Given the description of an element on the screen output the (x, y) to click on. 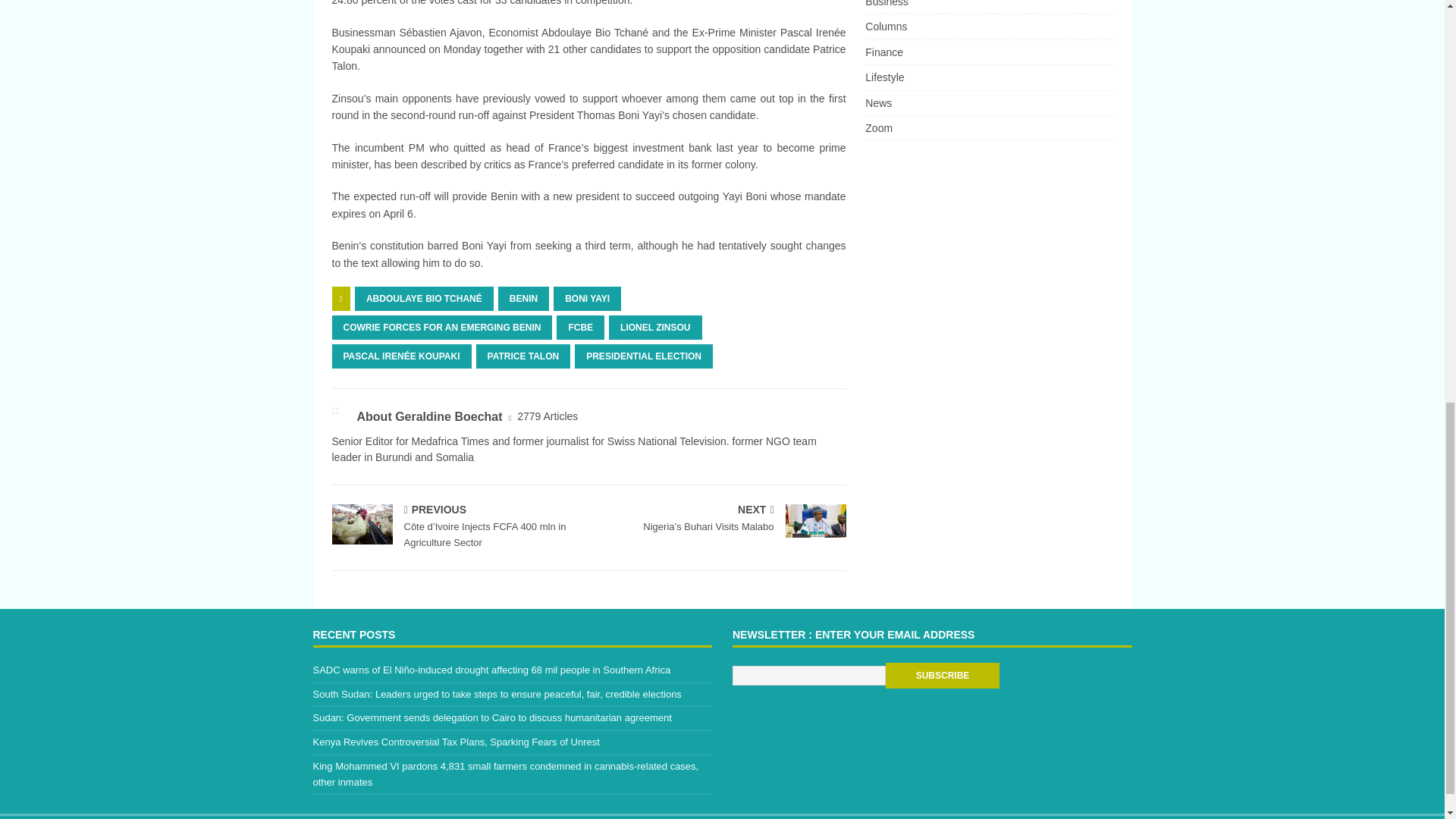
PATRICE TALON (523, 355)
LIONEL ZINSOU (654, 327)
2779 Articles (547, 416)
FCBE (580, 327)
PRESIDENTIAL ELECTION (644, 355)
COWRIE FORCES FOR AN EMERGING BENIN (442, 327)
More articles written by Geraldine Boechat' (547, 416)
BONI YAYI (587, 298)
BENIN (522, 298)
Subscribe (941, 675)
